Given the description of an element on the screen output the (x, y) to click on. 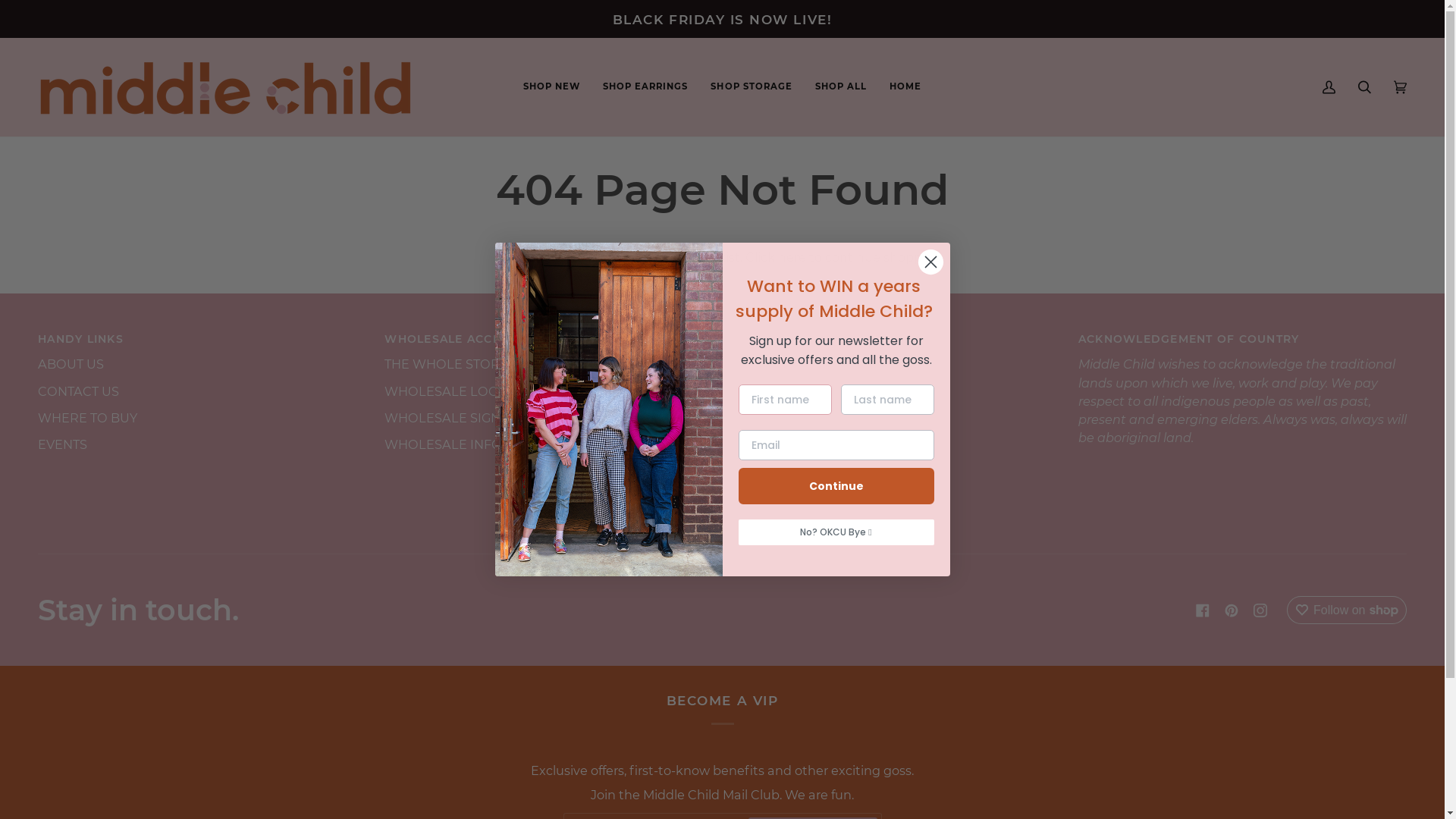
PRIVACY POLICY Element type: text (784, 497)
SHOP NEW Element type: text (551, 86)
here Element type: text (792, 256)
Pinterest Element type: text (1231, 610)
SHIPPING & RETURNS Element type: text (799, 363)
EVENTS Element type: text (62, 443)
Search Element type: text (1364, 86)
WHOLESALE SIGN UP Element type: text (453, 417)
WHERE TO BUY Element type: text (87, 417)
FAQ'S Element type: text (749, 417)
WHOLESALE INFO & ASSETS Element type: text (473, 443)
THE WHOLE STORY Element type: text (445, 363)
My Account Element type: text (1328, 86)
TERMS OF SERVICE Element type: text (792, 470)
Submit Element type: text (30, 14)
CLICK AND COLLECT Element type: text (796, 390)
Instagram Element type: text (1260, 610)
SEARCH Element type: text (757, 443)
Cart
(0) Element type: text (1400, 86)
WHOLESALE LOG IN Element type: text (449, 390)
ABOUT US Element type: text (70, 363)
Continue Element type: text (836, 485)
SHOP ALL Element type: text (840, 86)
SHOP EARRINGS Element type: text (645, 86)
SHOP STORAGE Element type: text (751, 86)
CONTACT US Element type: text (78, 390)
Facebook Element type: text (1202, 610)
HOME Element type: text (905, 86)
